Given the description of an element on the screen output the (x, y) to click on. 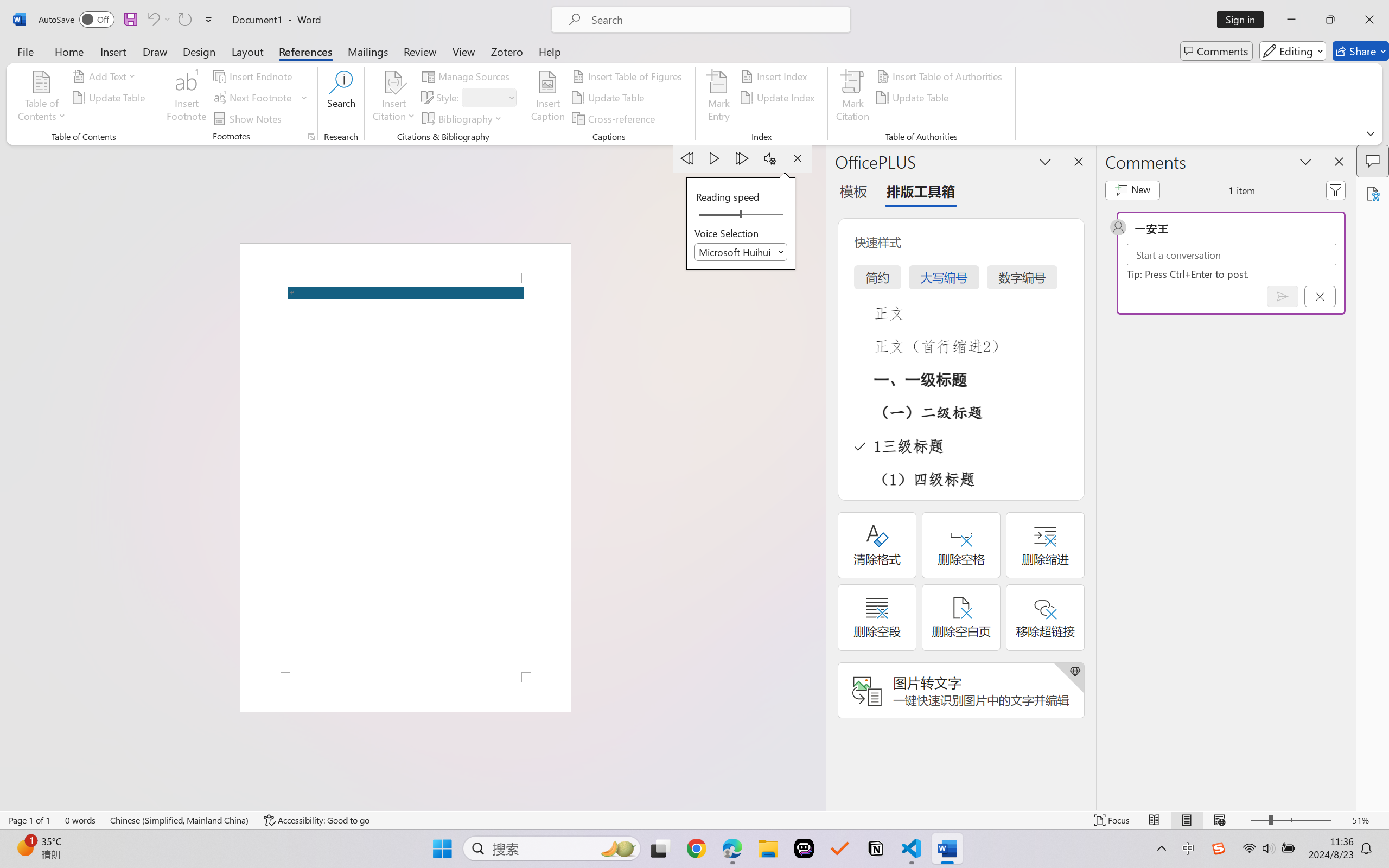
Show Notes (248, 118)
Search (341, 97)
Footnote and Endnote Dialog... (311, 136)
Update Index (778, 97)
